Given the description of an element on the screen output the (x, y) to click on. 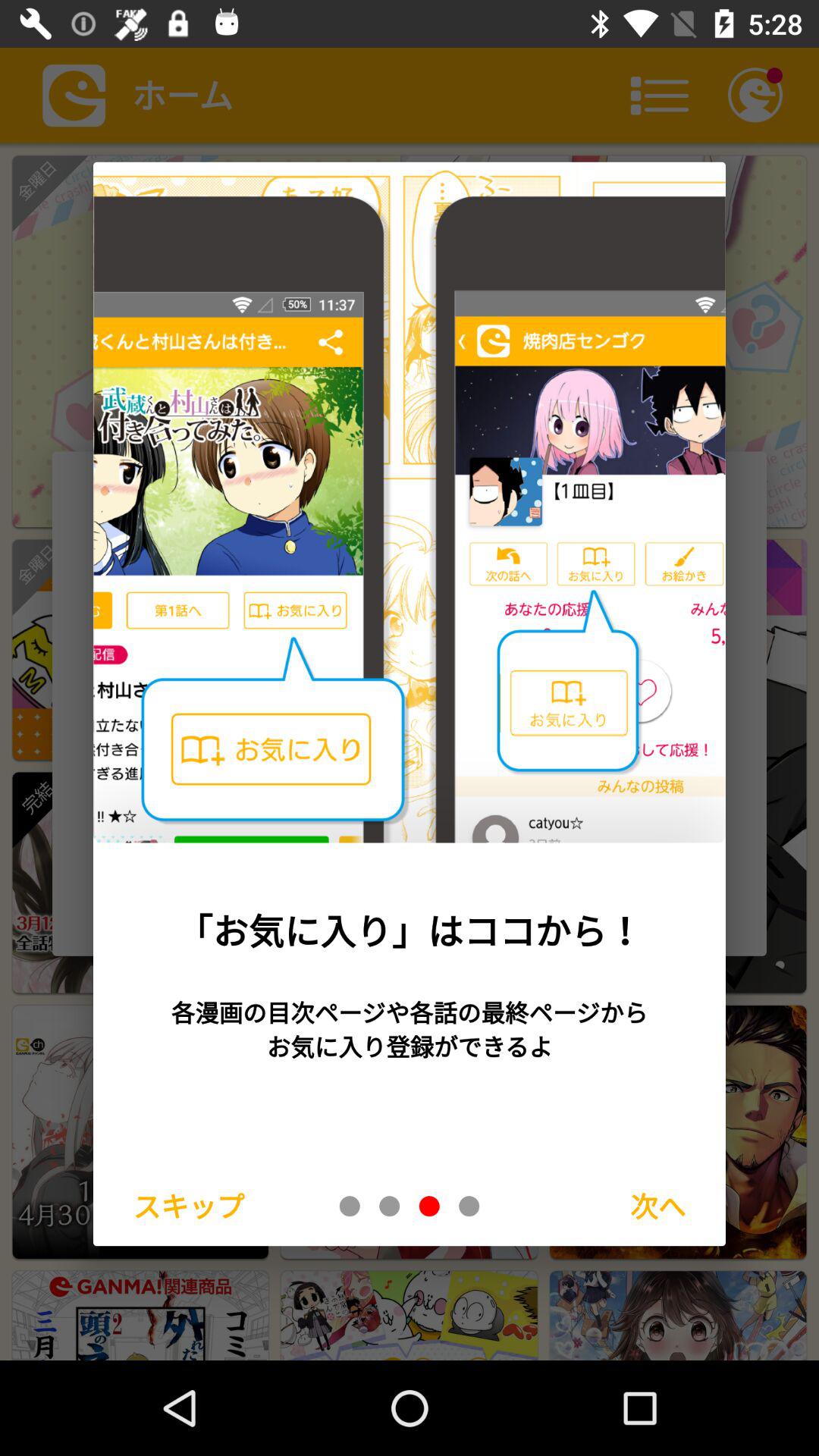
go back (349, 1206)
